Given the description of an element on the screen output the (x, y) to click on. 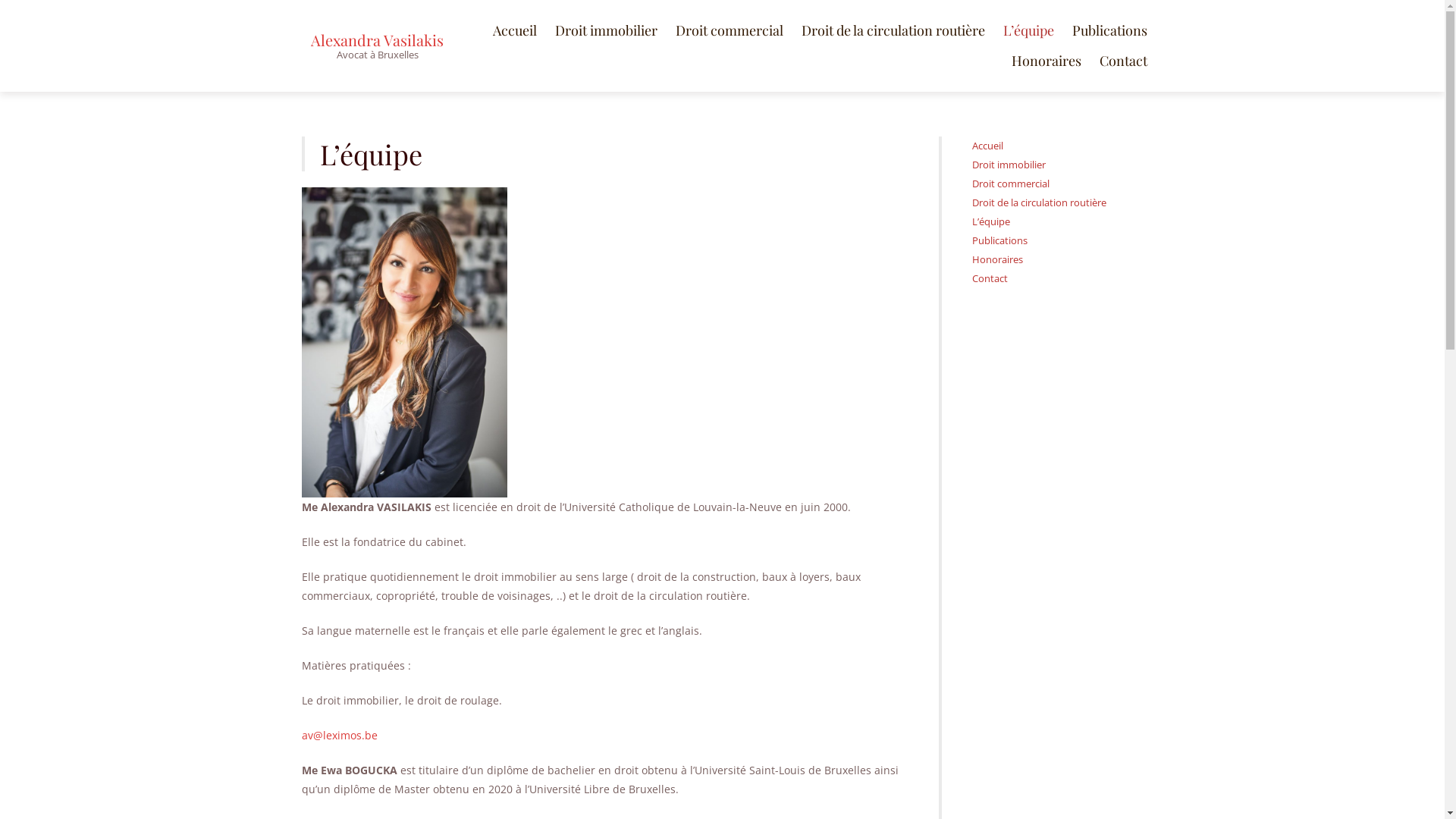
Droit commercial Element type: text (728, 30)
Contact Element type: text (989, 278)
Droit immobilier Element type: text (606, 30)
Honoraires Element type: text (1046, 60)
Honoraires Element type: text (997, 259)
Accueil Element type: text (987, 145)
Accueil Element type: text (514, 30)
Droit immobilier Element type: text (1008, 164)
Publications Element type: text (1109, 30)
Contact Element type: text (1123, 60)
Alexandra Vasilakis Element type: text (376, 38)
av@leximos.be Element type: text (339, 735)
Publications Element type: text (999, 240)
Droit commercial Element type: text (1010, 183)
